Given the description of an element on the screen output the (x, y) to click on. 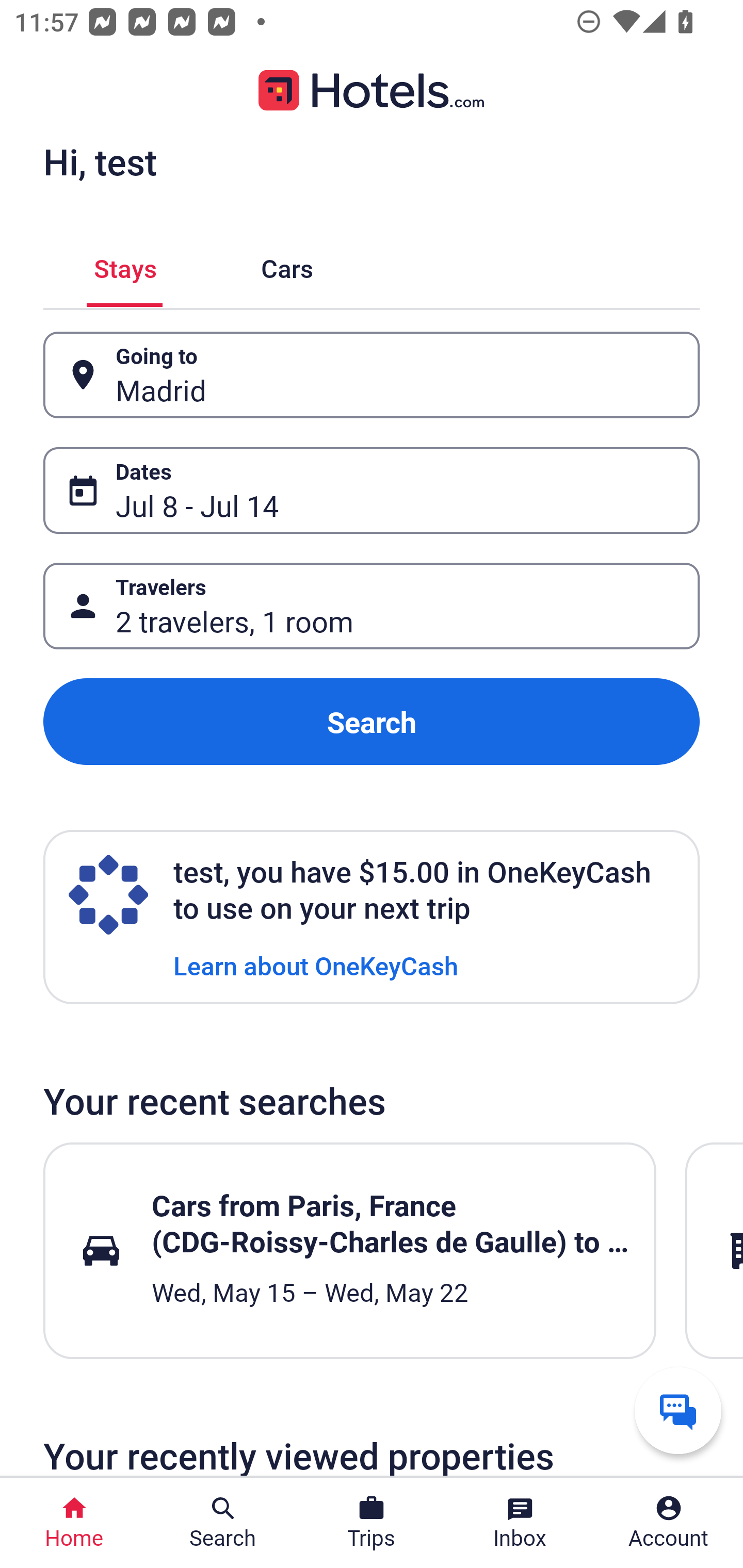
Hi, test (99, 161)
Cars (286, 265)
Going to Button Madrid (371, 375)
Dates Button Jul 8 - Jul 14 (371, 489)
Travelers Button 2 travelers, 1 room (371, 605)
Search (371, 721)
Learn about OneKeyCash Learn about OneKeyCash Link (315, 964)
Get help from a virtual agent (677, 1410)
Search Search Button (222, 1522)
Trips Trips Button (371, 1522)
Inbox Inbox Button (519, 1522)
Account Profile. Button (668, 1522)
